Given the description of an element on the screen output the (x, y) to click on. 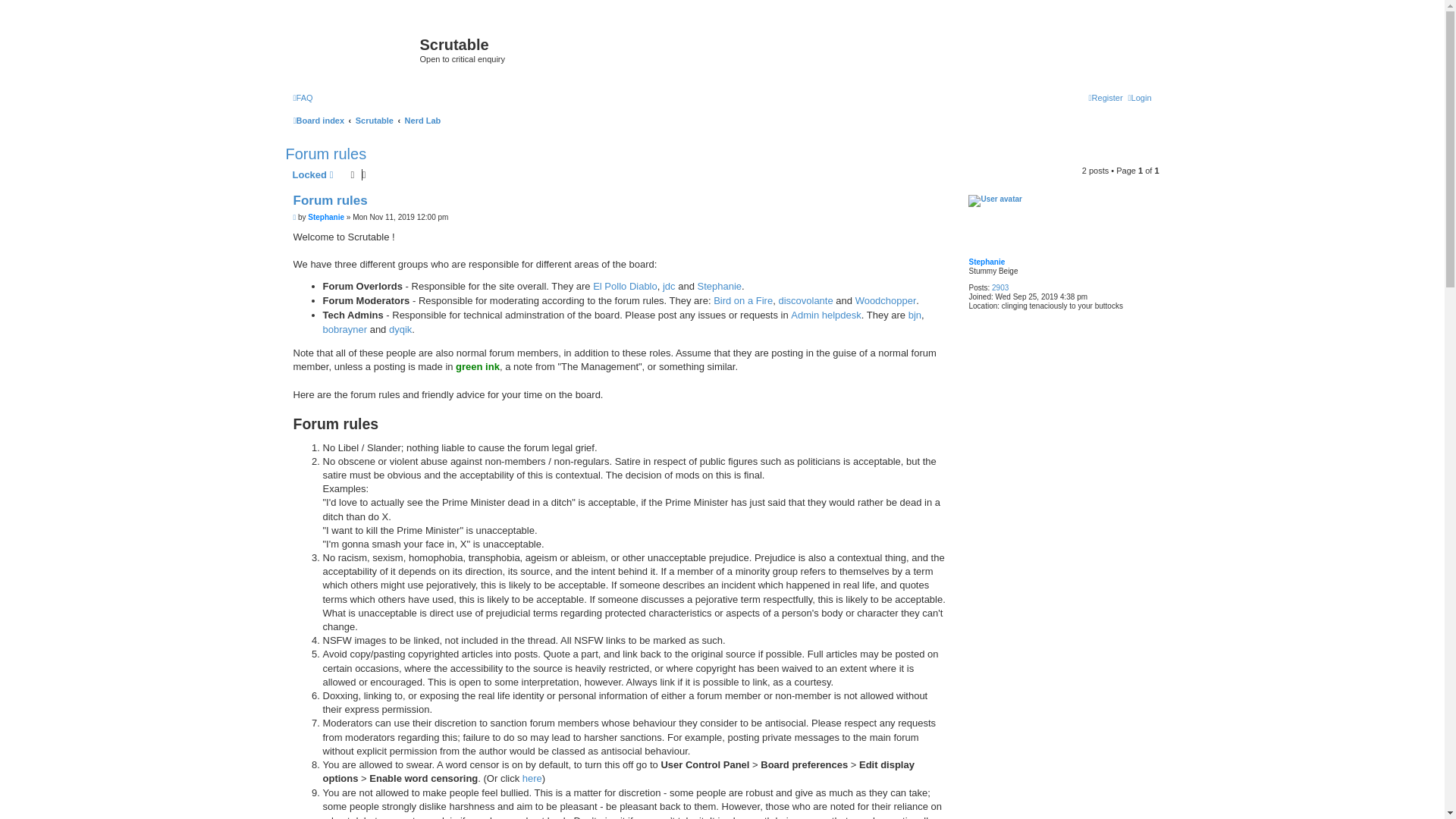
Scrutable (374, 120)
Bird on a Fire (743, 301)
Register (1105, 97)
Admin helpdesk (825, 315)
Login (1139, 97)
Nerd Lab (422, 120)
Locked (312, 175)
here (531, 779)
El Pollo Diablo (625, 287)
Frequently Asked Questions (302, 97)
Forum rules (325, 153)
dyqik (400, 329)
Stephanie (986, 261)
discovolante (804, 301)
